Given the description of an element on the screen output the (x, y) to click on. 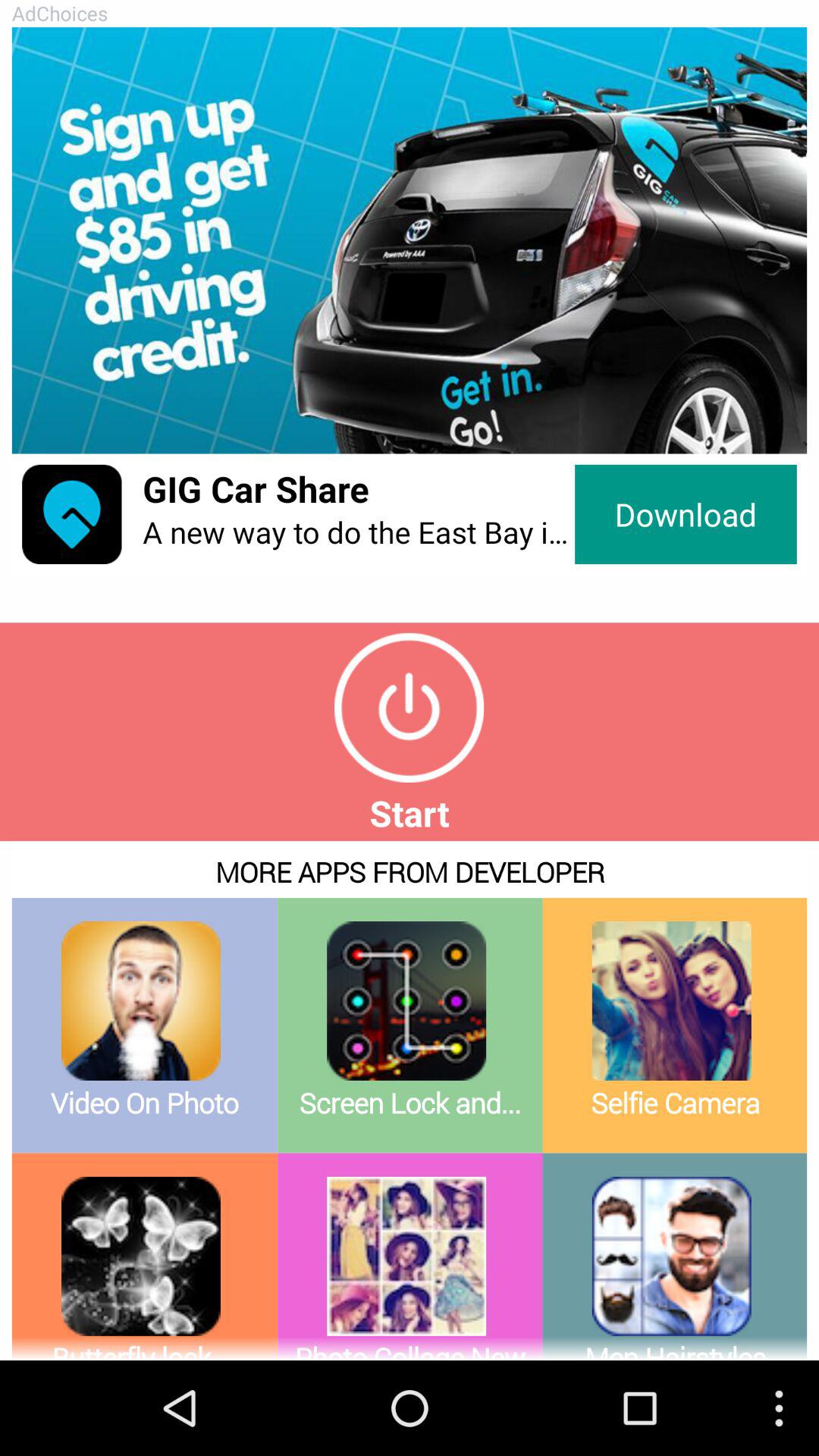
more apps (409, 1100)
